Given the description of an element on the screen output the (x, y) to click on. 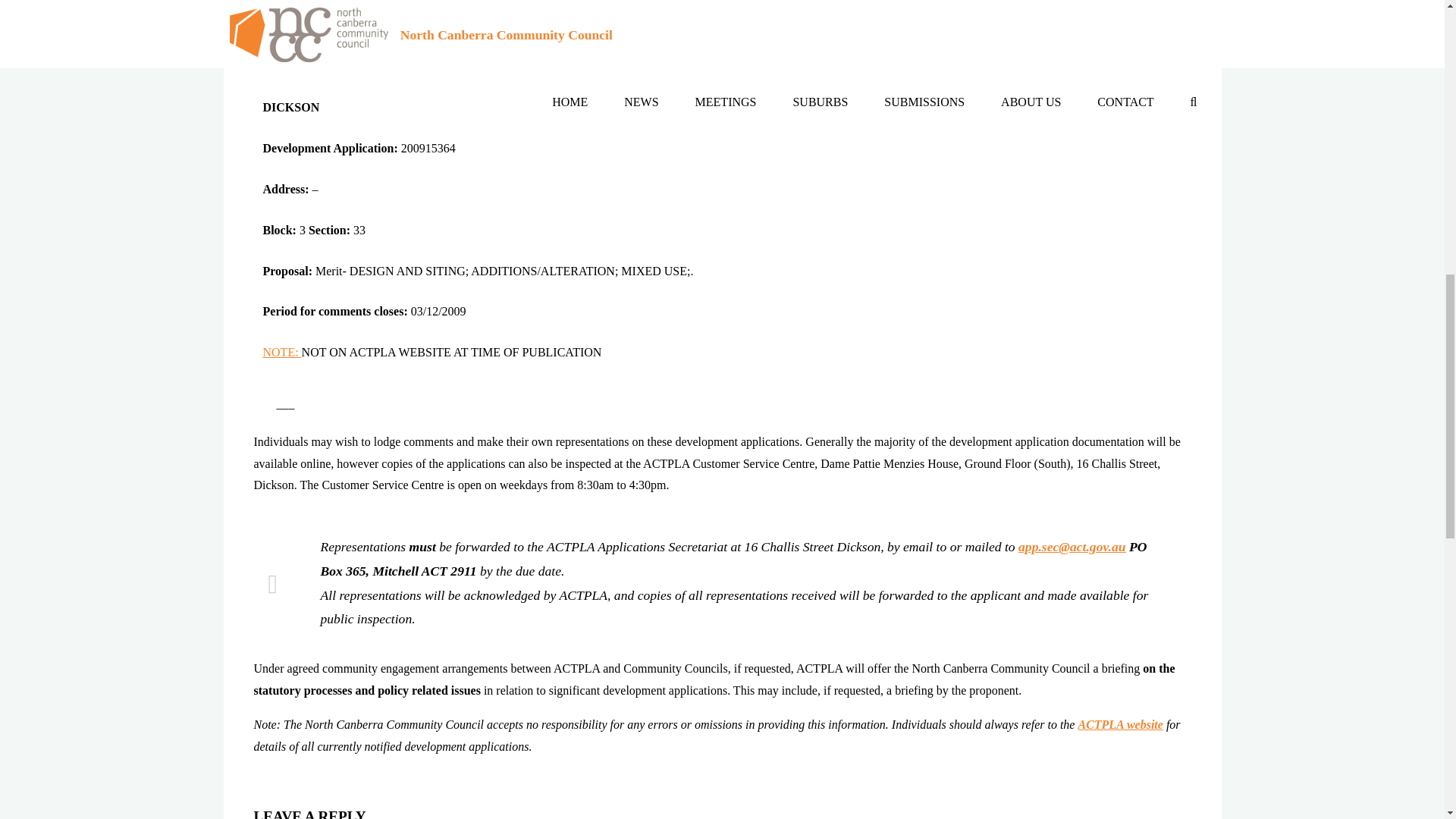
ACTPLA website (1119, 724)
Click here to view the plans (329, 8)
NOTE: (281, 351)
ACTPLA (1119, 724)
